Given the description of an element on the screen output the (x, y) to click on. 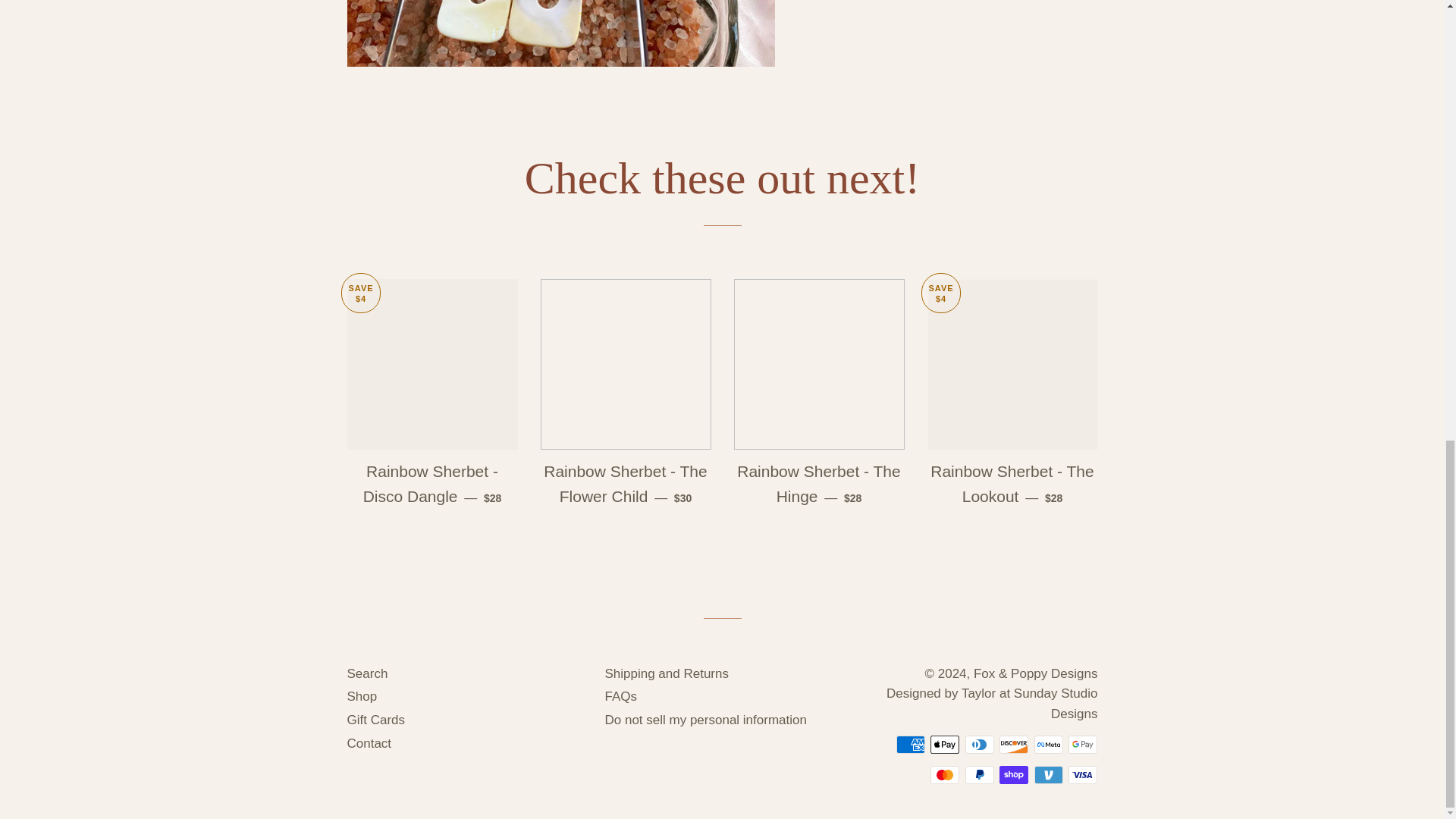
Google Pay (1082, 744)
Meta Pay (1047, 744)
American Express (910, 744)
Discover (1012, 744)
PayPal (979, 774)
Mastercard (944, 774)
Venmo (1047, 774)
Shop Pay (1012, 774)
Diners Club (979, 744)
Apple Pay (944, 744)
